Given the description of an element on the screen output the (x, y) to click on. 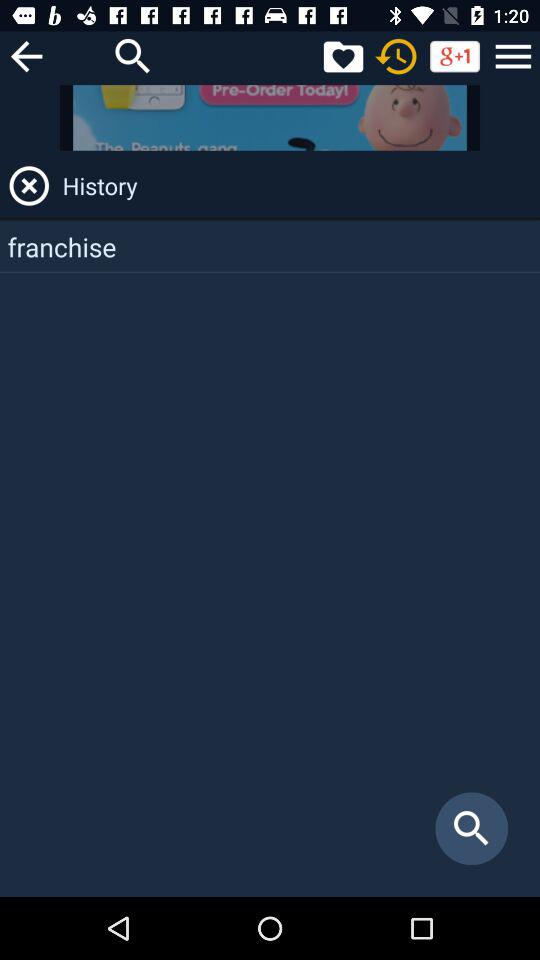
option and other services (513, 56)
